Given the description of an element on the screen output the (x, y) to click on. 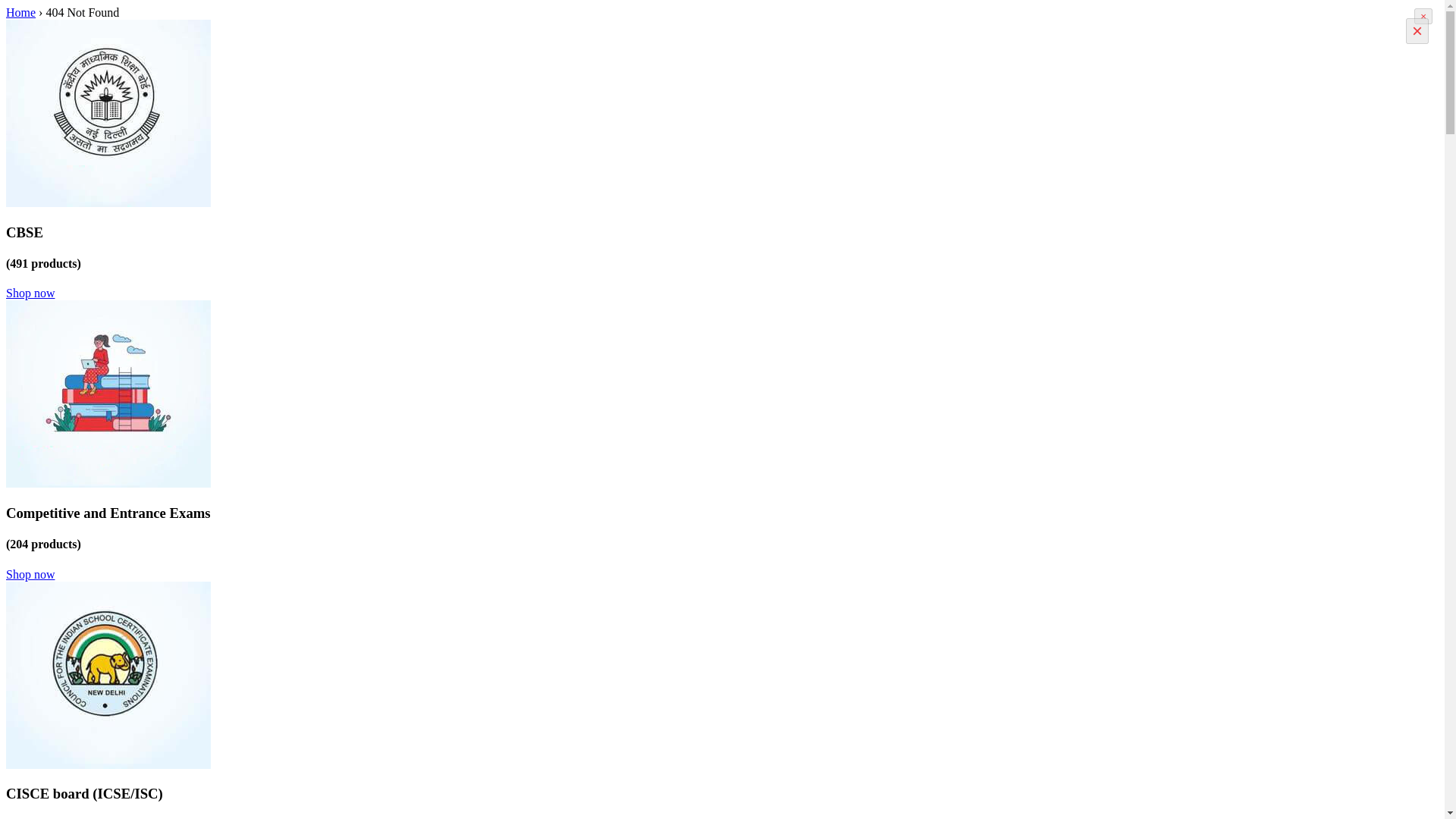
Home (19, 11)
Shop now (30, 292)
Shop now (30, 573)
Home (19, 11)
